Given the description of an element on the screen output the (x, y) to click on. 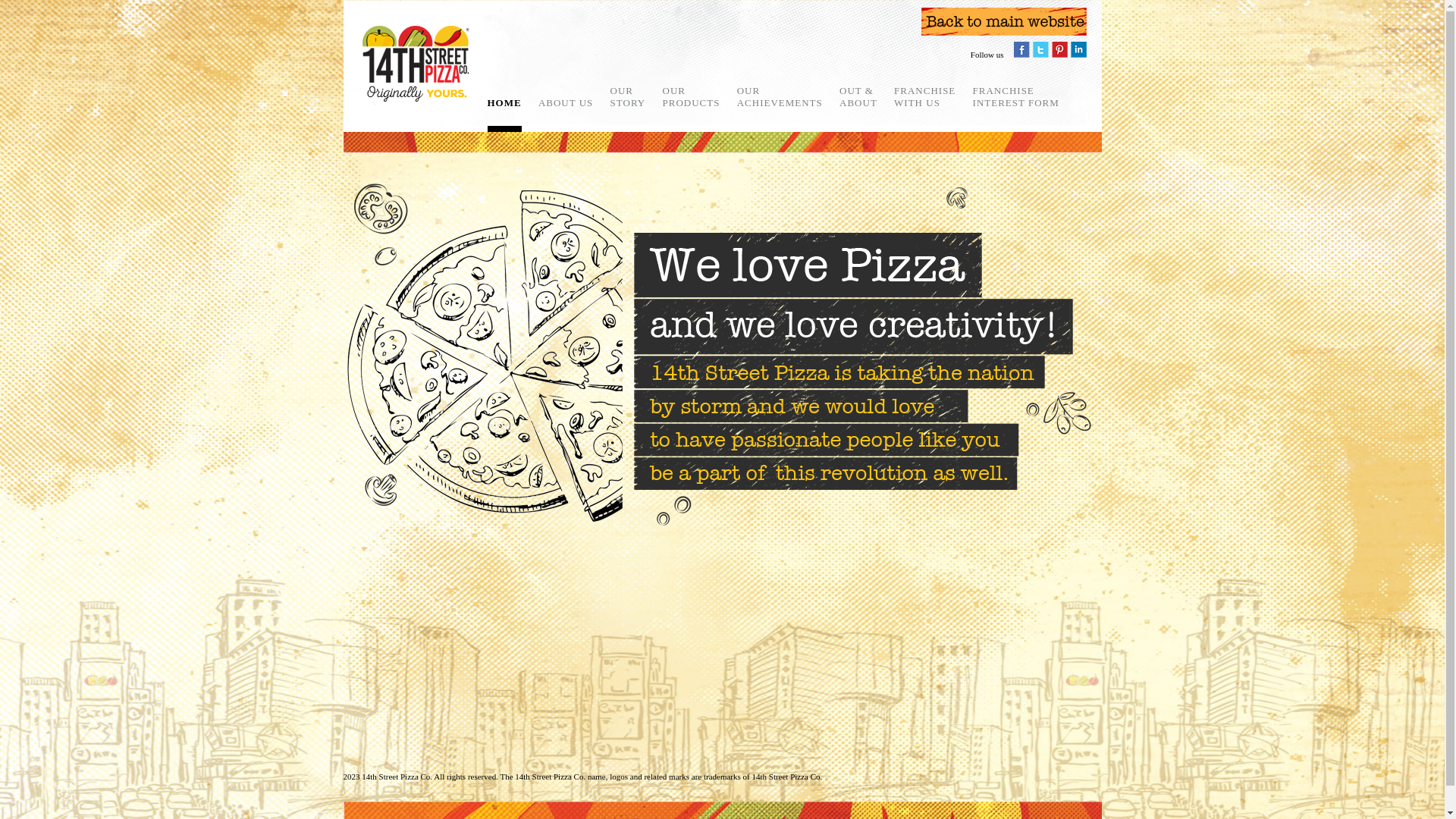
FRANCHISE
INTEREST FORM Element type: text (1015, 96)
OUR
PRODUCTS Element type: text (691, 96)
HOME Element type: text (503, 103)
OUR
STORY Element type: text (628, 96)
ABOUT US Element type: text (565, 103)
OUT &
ABOUT Element type: text (858, 96)
FRANCHISE
WITH US Element type: text (924, 96)
OUR
ACHIEVEMENTS Element type: text (779, 96)
